Given the description of an element on the screen output the (x, y) to click on. 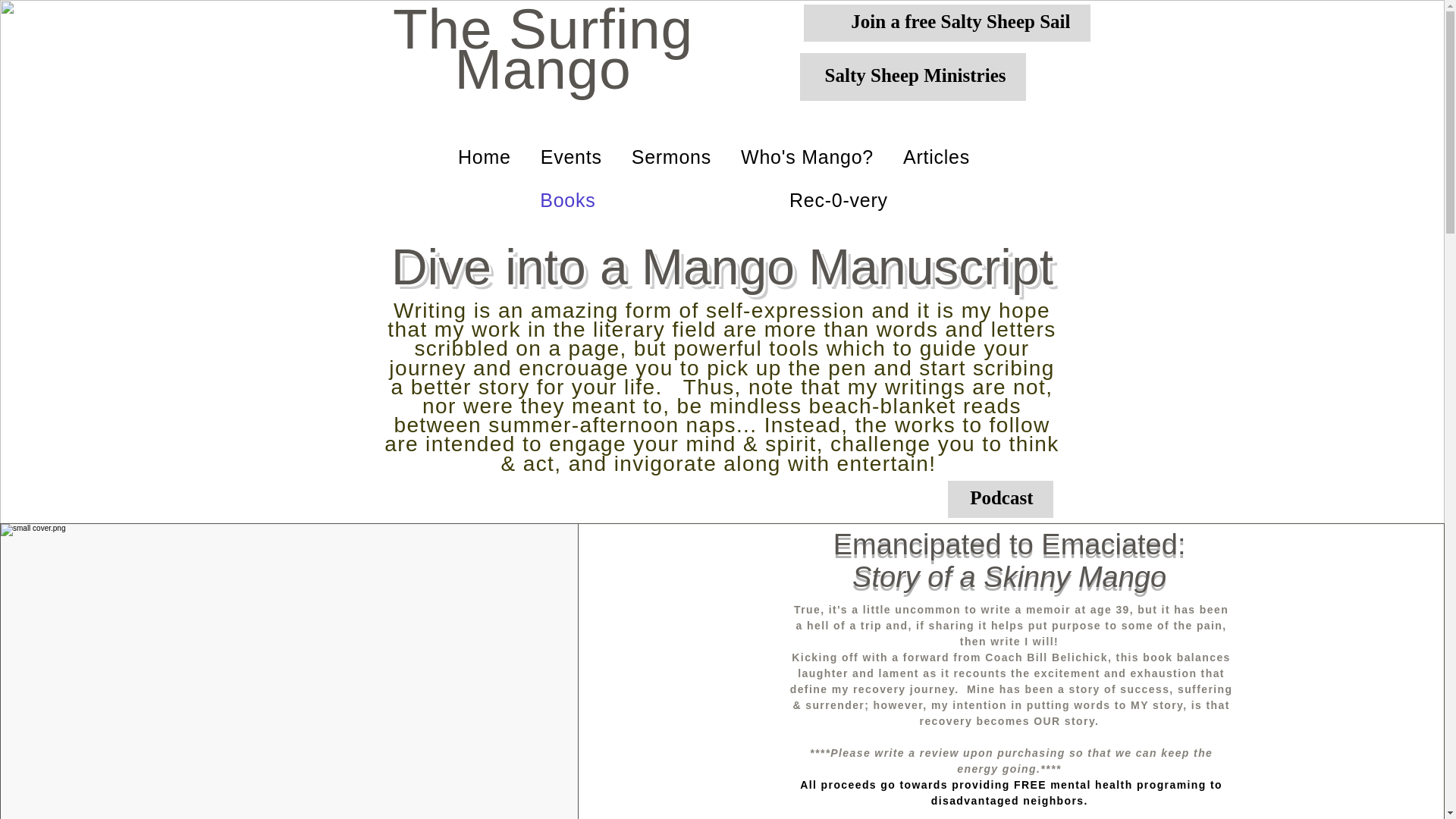
Home (483, 157)
Join a free Salty Sheep Sail (946, 22)
Articles (936, 157)
Events (570, 157)
Sermons (671, 157)
Podcast (999, 498)
Who's Mango? (807, 157)
Books (566, 200)
Rec-0-very (838, 200)
Salty Sheep Ministries (912, 76)
